Given the description of an element on the screen output the (x, y) to click on. 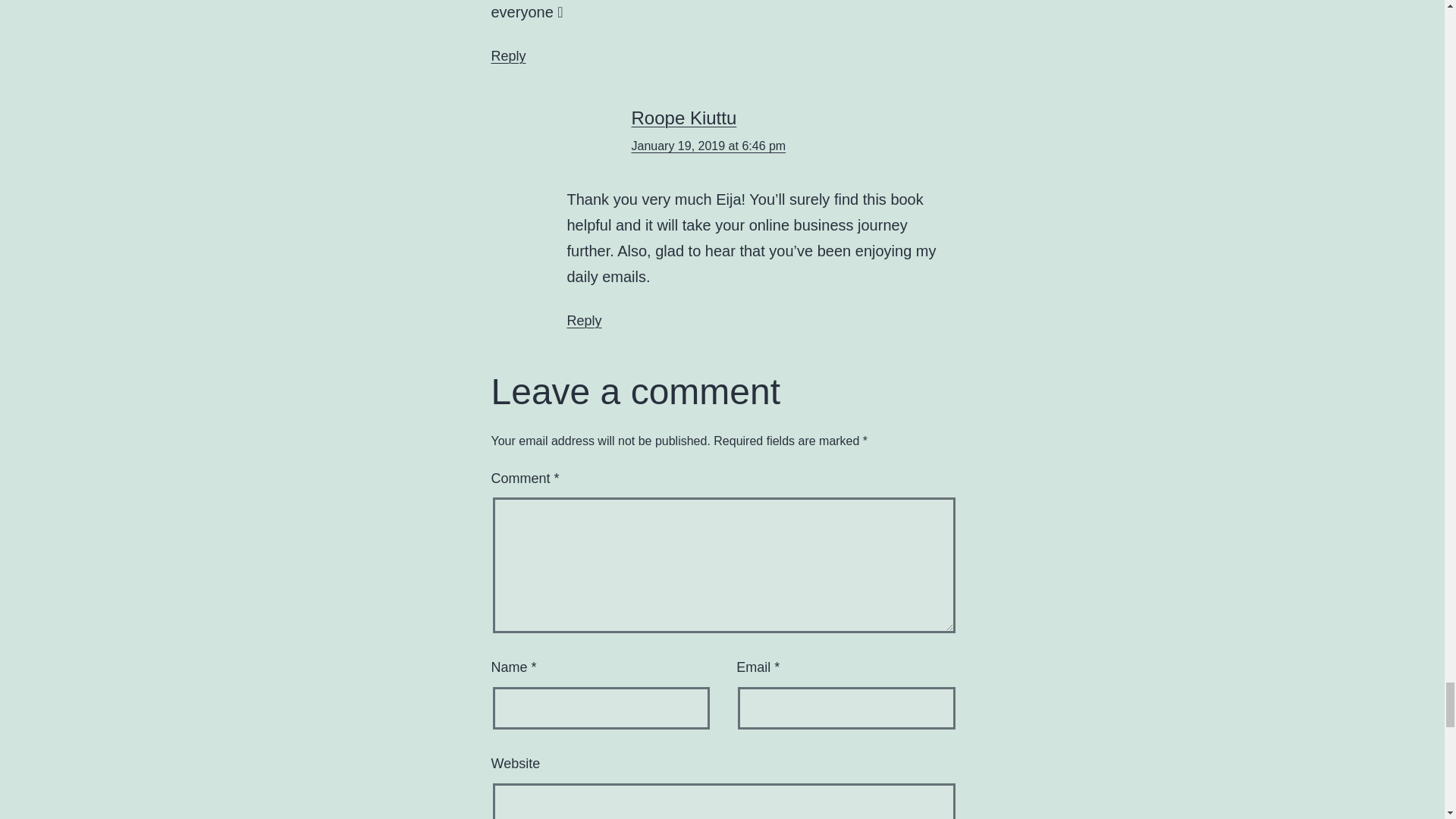
Reply (584, 320)
Roope Kiuttu (683, 117)
Reply (508, 55)
January 19, 2019 at 6:46 pm (708, 145)
